Given the description of an element on the screen output the (x, y) to click on. 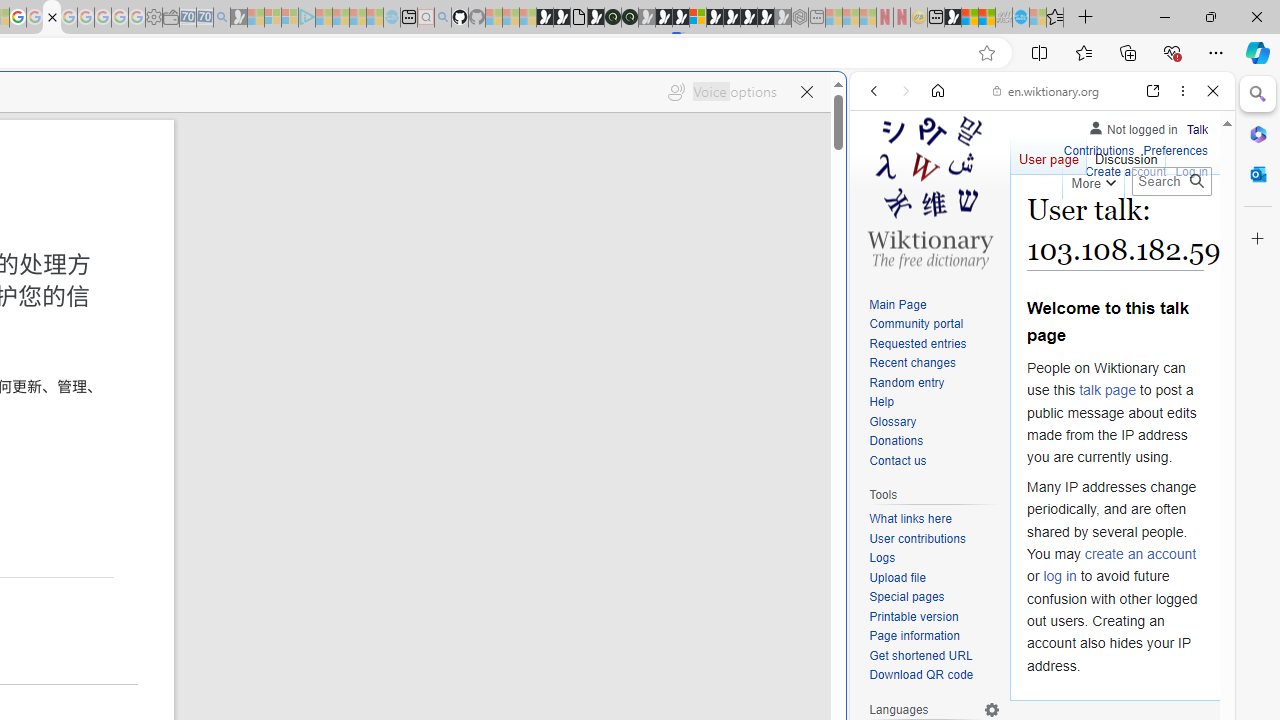
create an account (1140, 553)
Not logged in (1132, 126)
User contributions (934, 539)
Recent changes (912, 362)
Community portal (934, 324)
Logs (934, 558)
Voice options (721, 92)
Logs (882, 557)
